Given the description of an element on the screen output the (x, y) to click on. 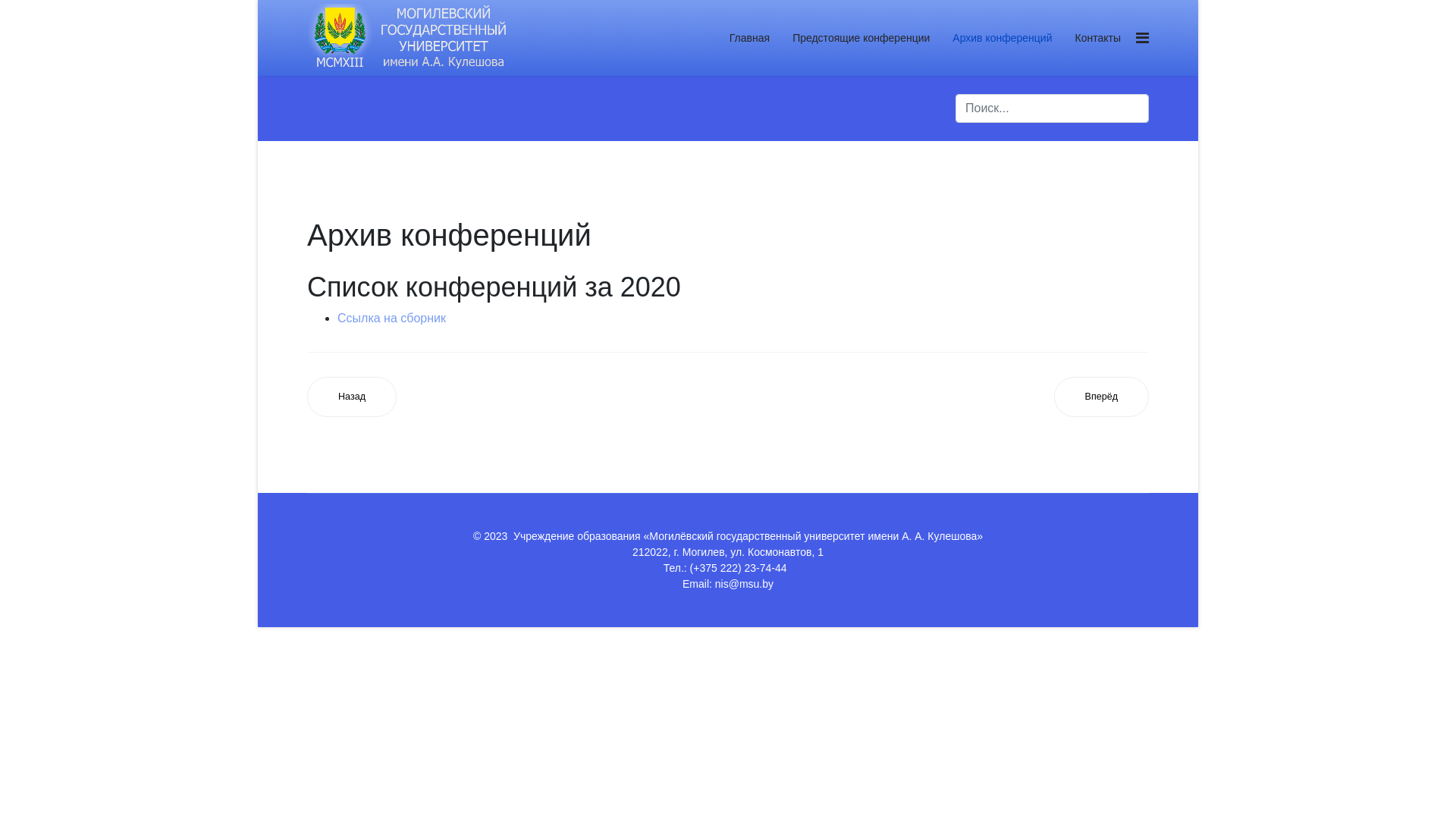
Navigation Element type: hover (1141, 37)
